Given the description of an element on the screen output the (x, y) to click on. 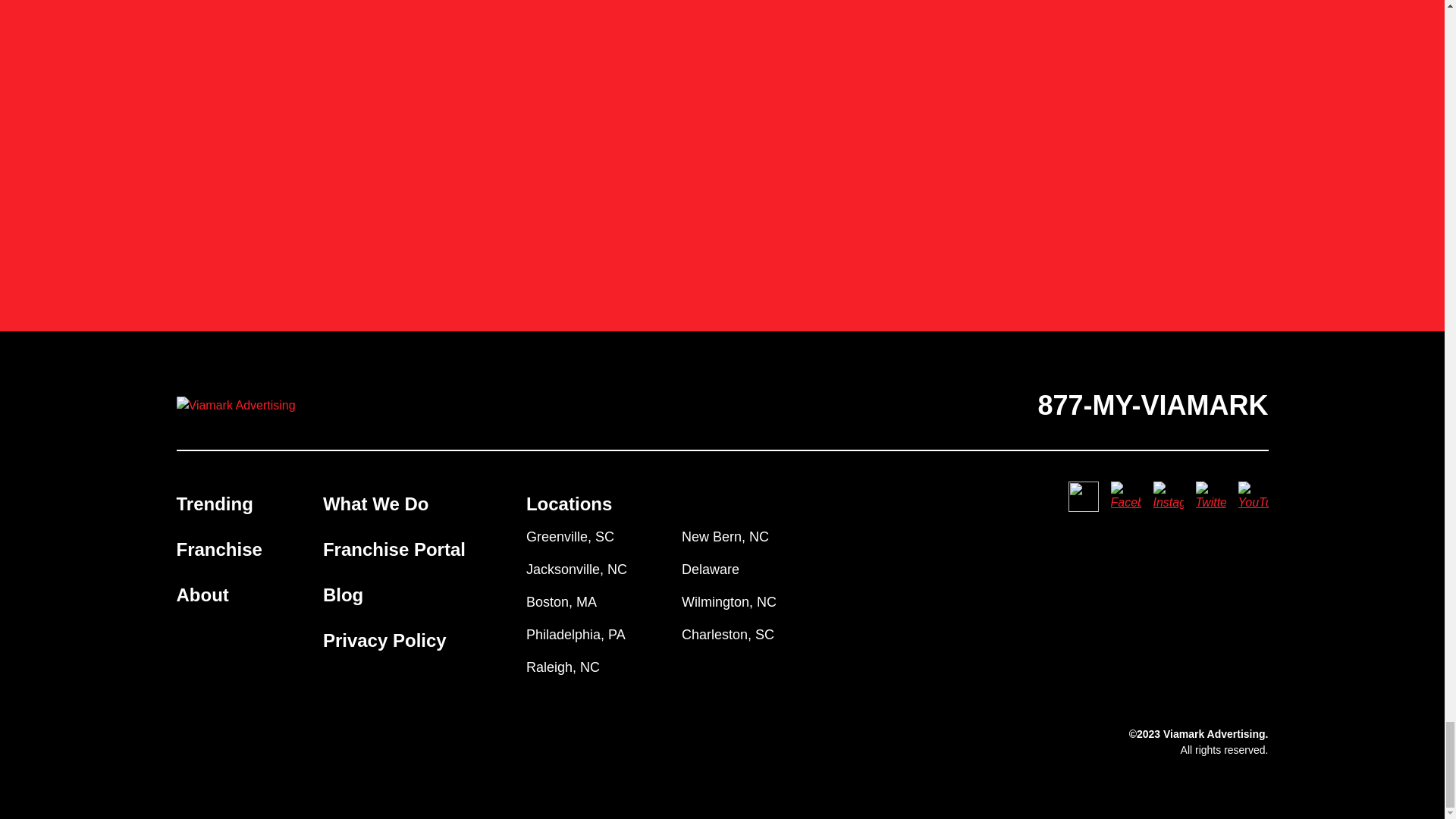
Trending (213, 504)
Greenville, SC (569, 537)
What We Do (376, 504)
Locations (568, 504)
877-MY-VIAMARK (1152, 405)
Franchise (219, 549)
Franchise Portal (394, 549)
Privacy Policy (384, 640)
About (202, 595)
